Given the description of an element on the screen output the (x, y) to click on. 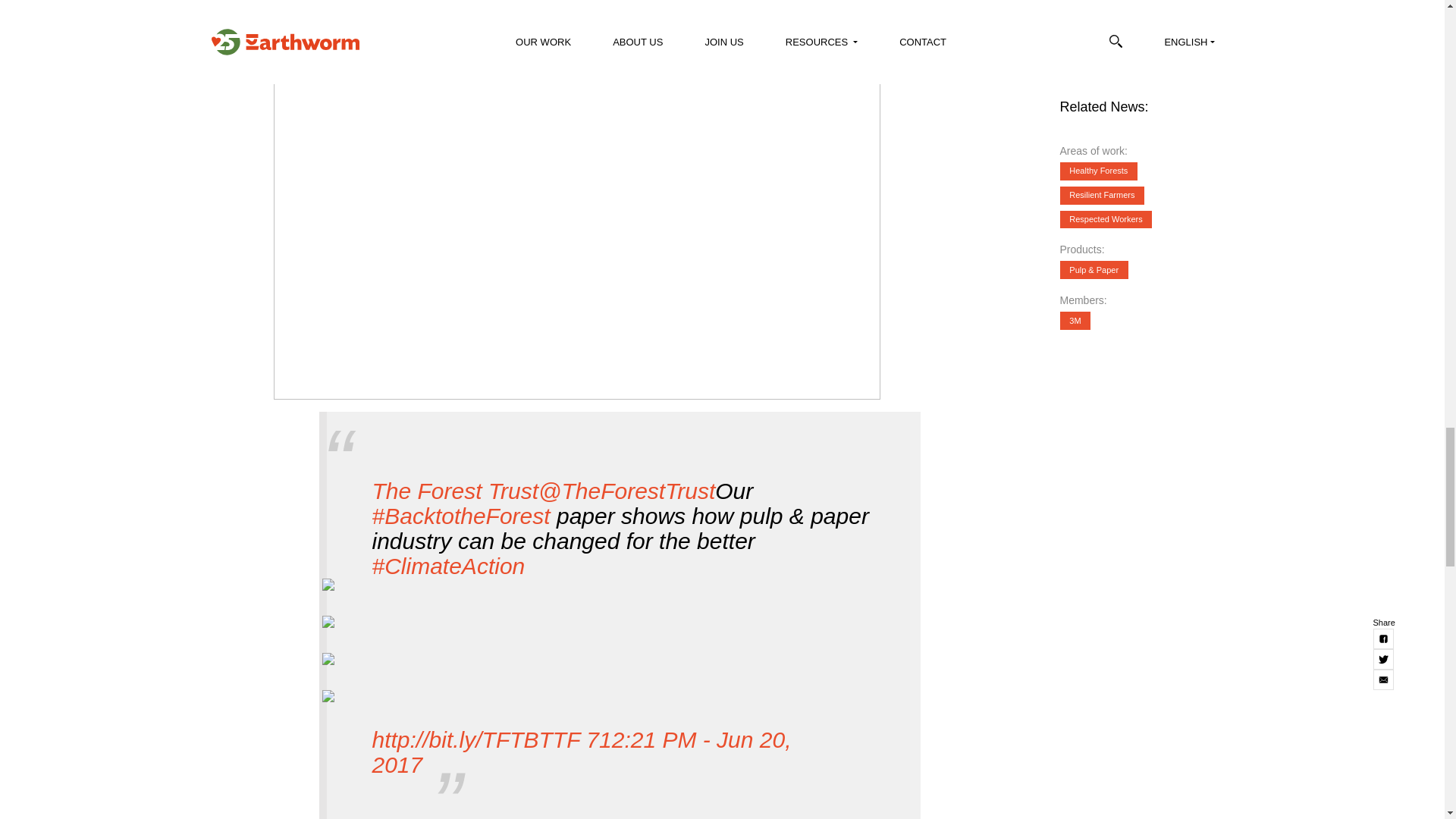
Person with folded hands (327, 702)
7 (592, 739)
Evergreen tree (327, 590)
Speaking head in silhouette (327, 627)
Like (592, 739)
Public address loudspeaker (327, 665)
